Given the description of an element on the screen output the (x, y) to click on. 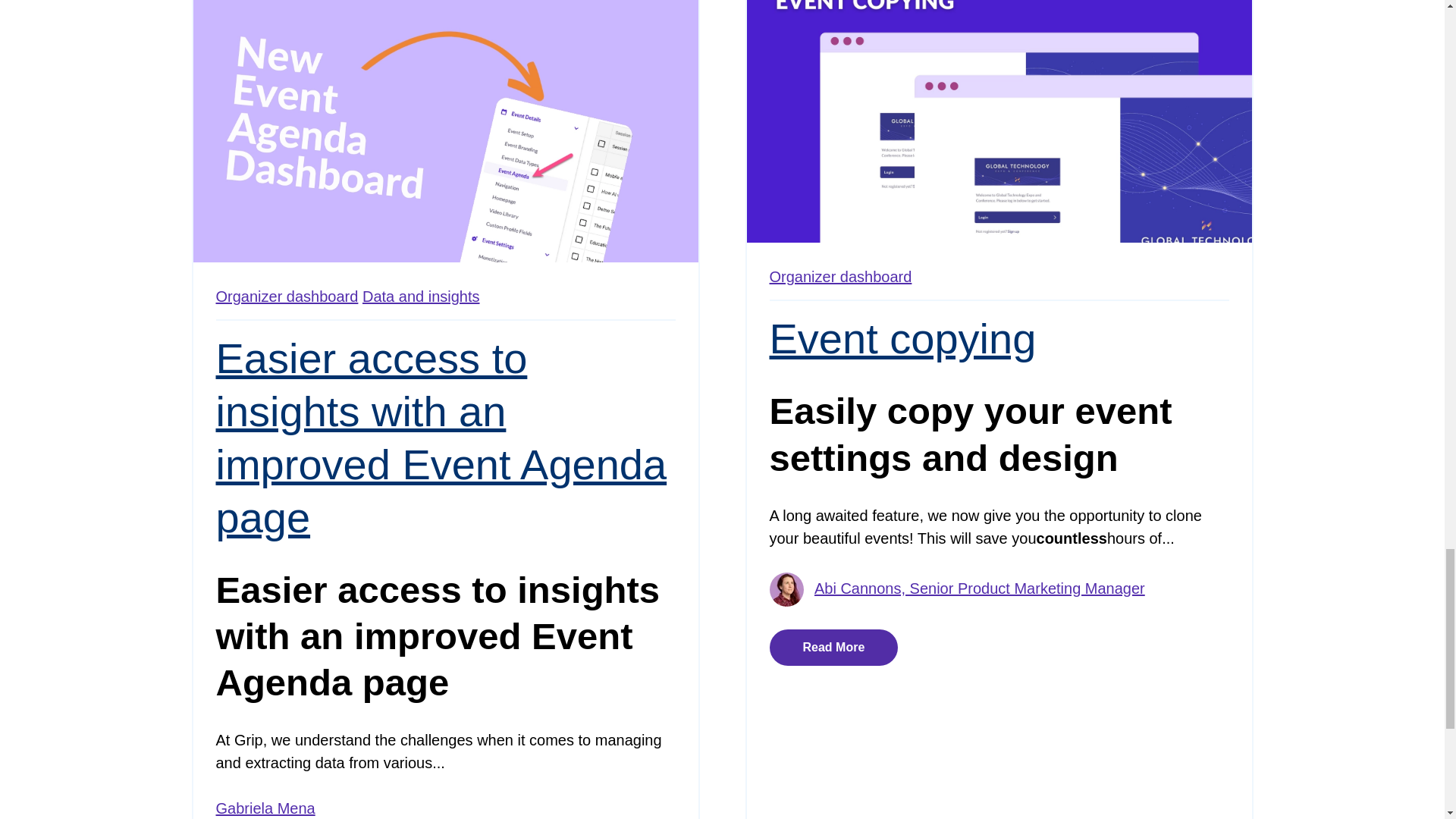
Event copying (901, 338)
Abi Cannons, Senior Product Marketing Manager (978, 588)
Gabriela Mena (264, 808)
Organizer dashboard (839, 276)
Organizer dashboard (286, 296)
Easier access to insights with an improved Event Agenda page (440, 437)
Read More (833, 647)
Data and insights (421, 296)
